Given the description of an element on the screen output the (x, y) to click on. 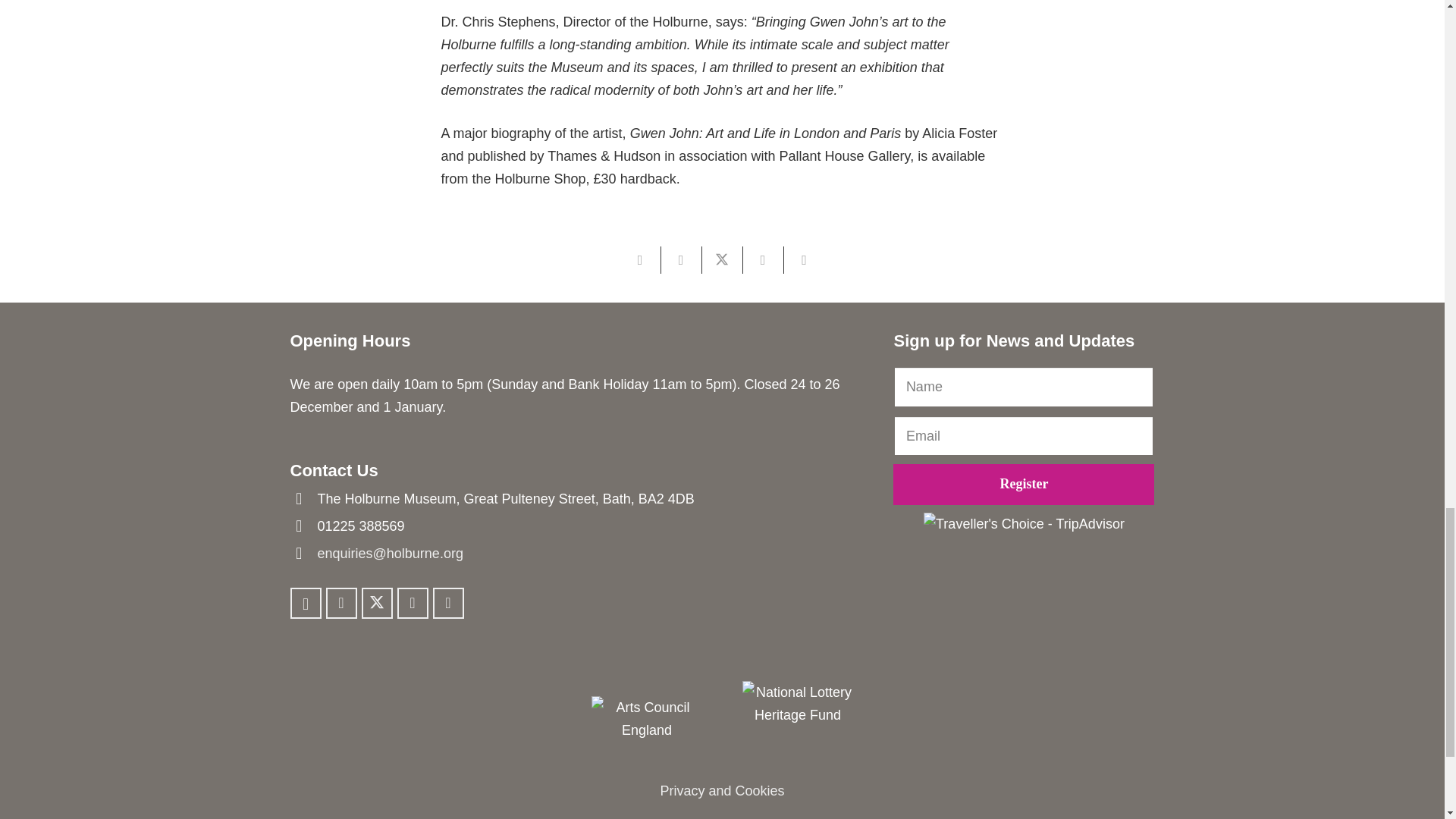
Instagram (304, 603)
Register (1023, 484)
Share this (681, 259)
Pinterest (412, 603)
Email this (640, 259)
Tweet this (721, 259)
Email (447, 603)
Share this (804, 259)
Share this (763, 259)
Facebook (341, 603)
